Given the description of an element on the screen output the (x, y) to click on. 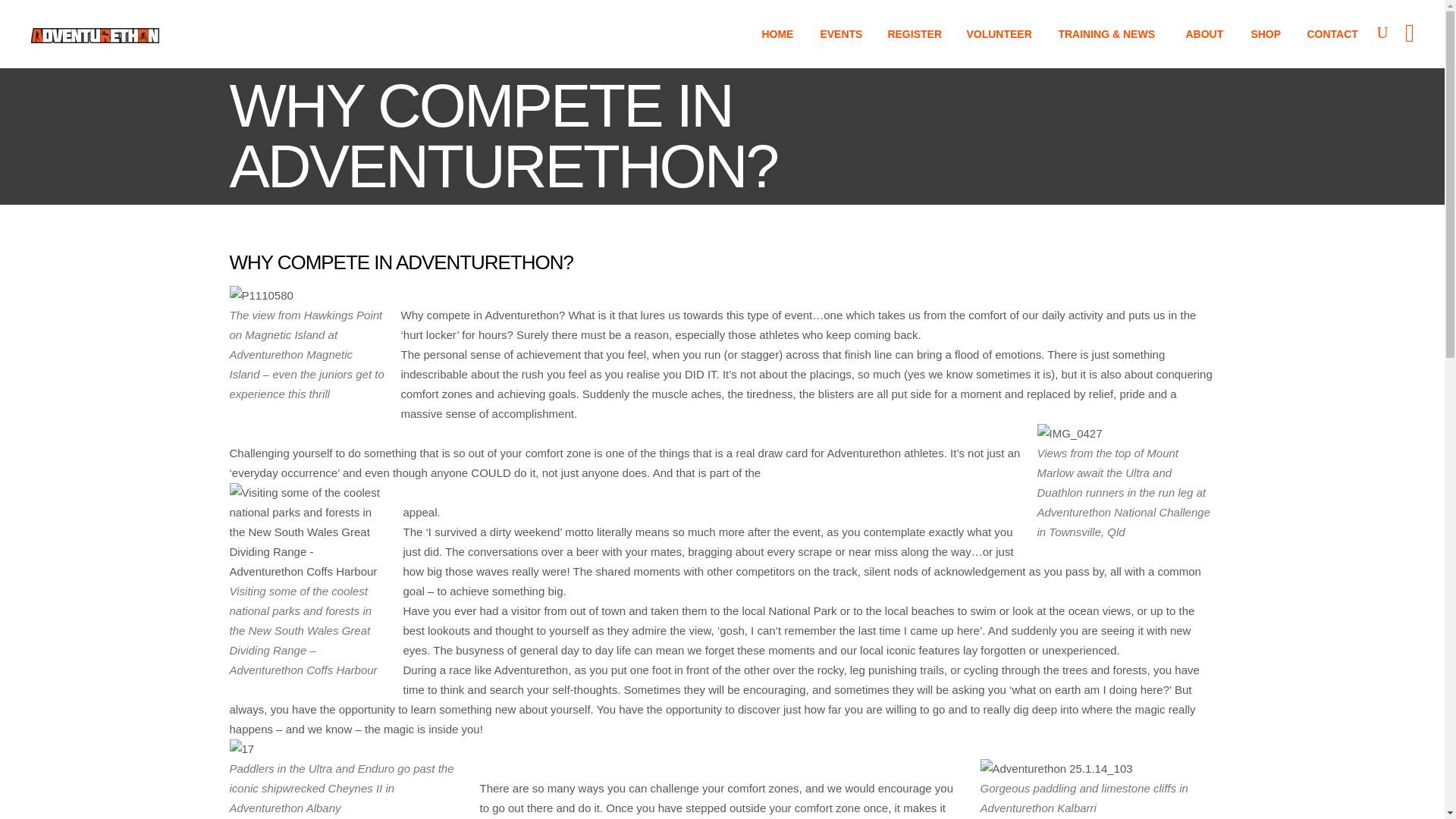
EVENTS (841, 33)
CONTACT (1333, 33)
HOME (778, 33)
VOLUNTEER (999, 33)
ABOUT (1206, 33)
SHOP (1266, 33)
REGISTER (914, 33)
